Given the description of an element on the screen output the (x, y) to click on. 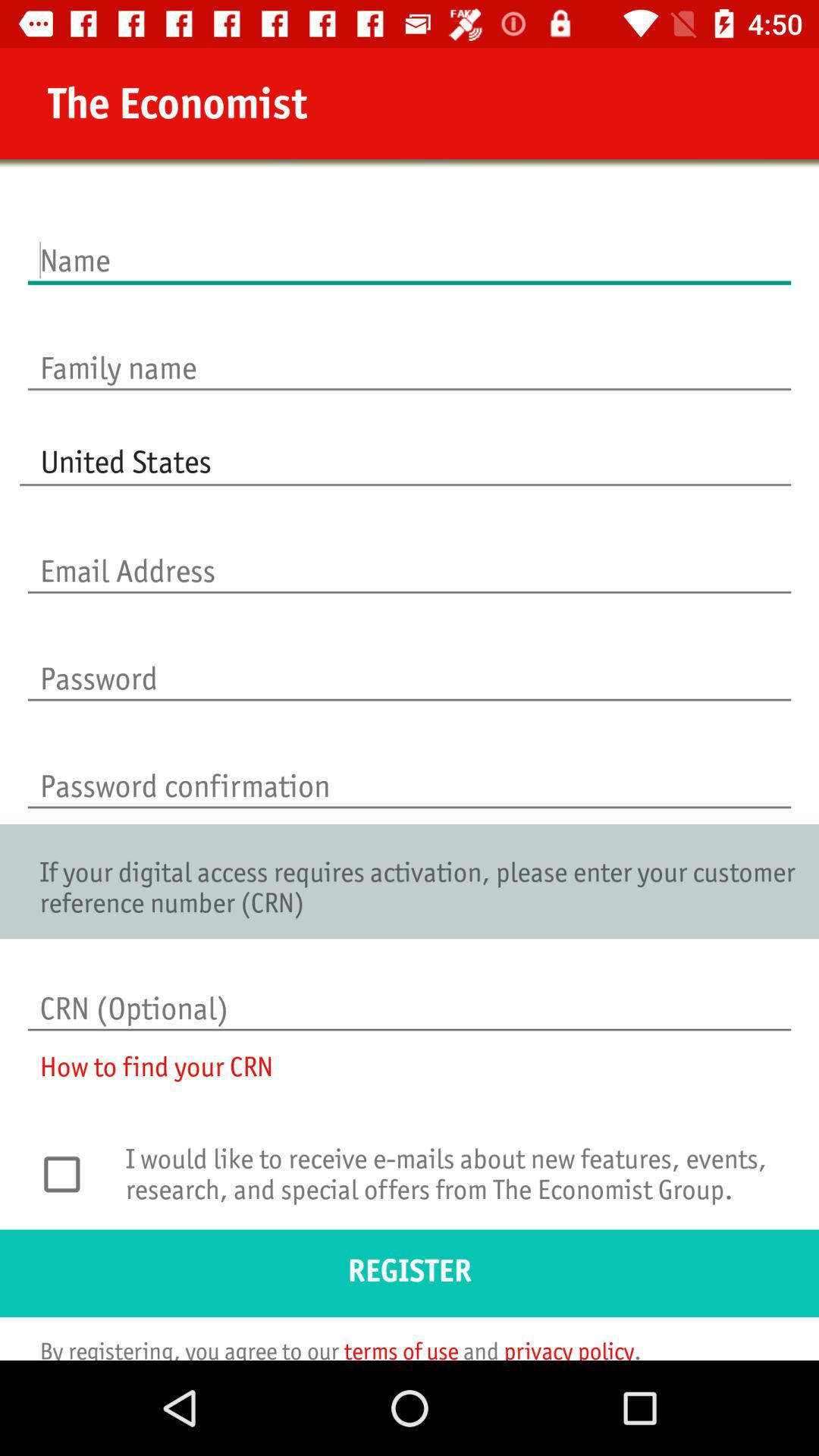
flip until i would like (454, 1183)
